Given the description of an element on the screen output the (x, y) to click on. 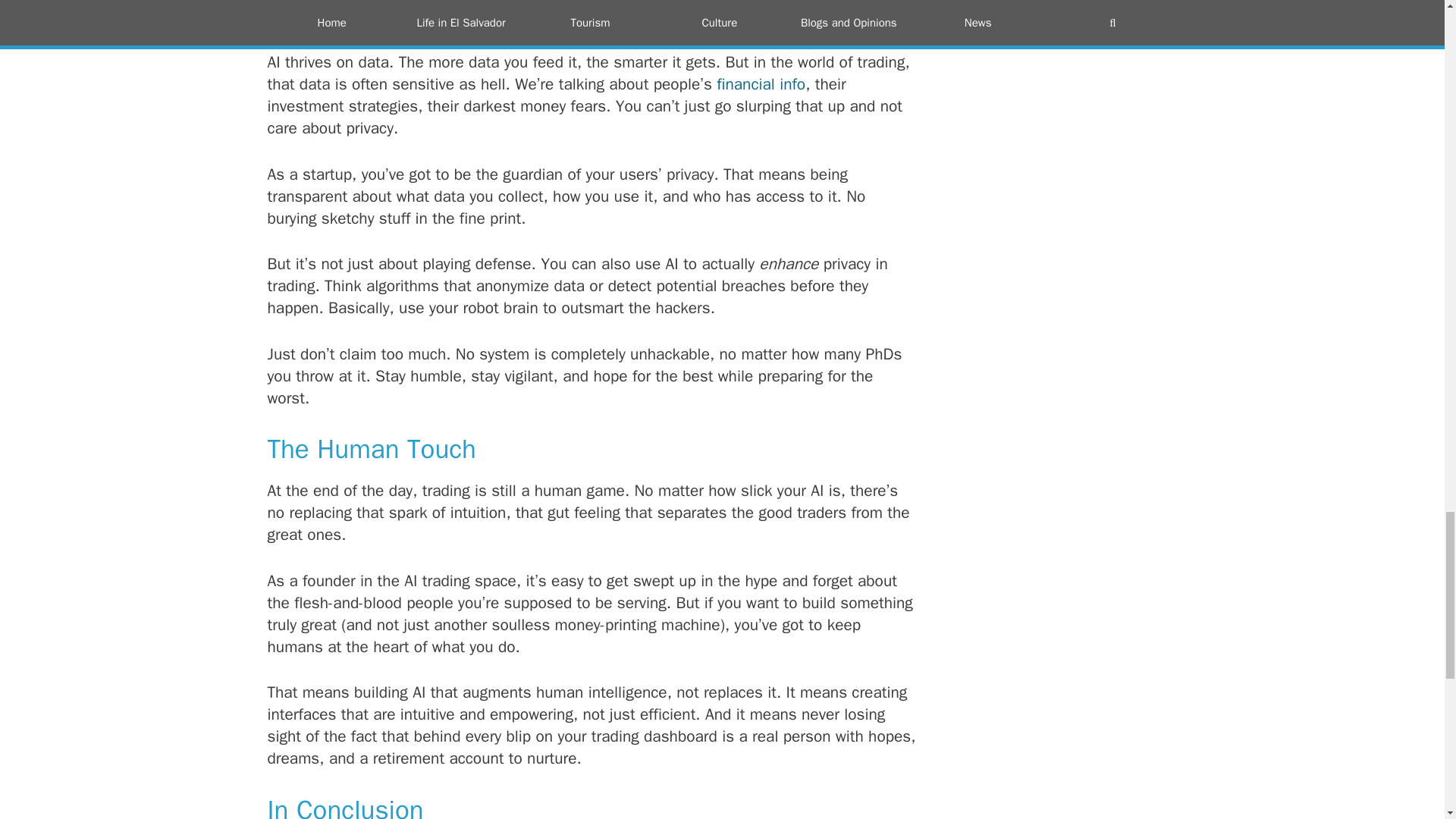
financial info (760, 84)
